Given the description of an element on the screen output the (x, y) to click on. 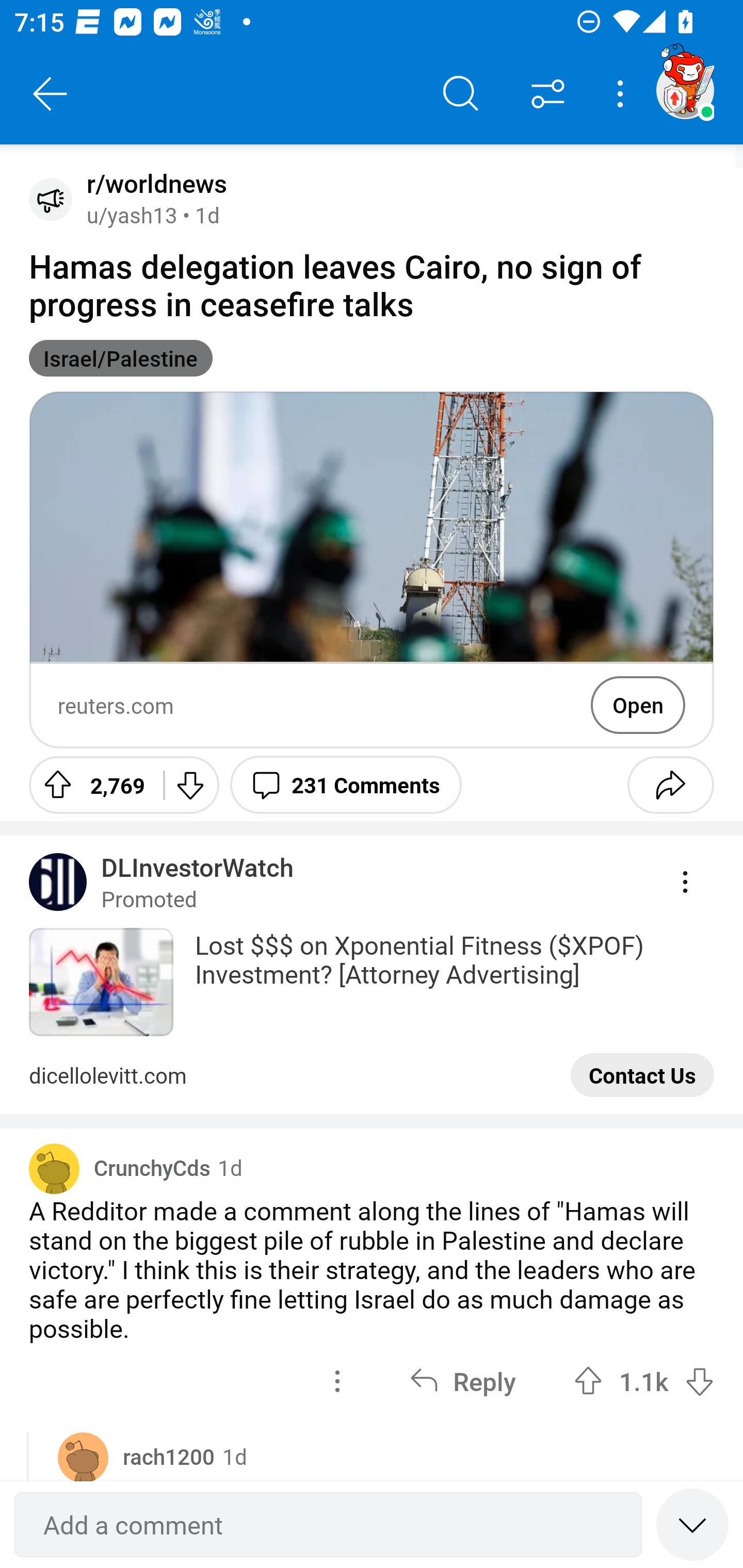
Back (50, 93)
TestAppium002 account (685, 90)
Search comments (460, 93)
Sort comments (547, 93)
More options (623, 93)
r/worldnews (153, 183)
Avatar (50, 199)
Israel/Palestine (120, 358)
Preview Image reuters.com Open (371, 568)
Open (637, 704)
Upvote 2,769 (88, 784)
Downvote (189, 784)
231 Comments (346, 784)
Share (670, 784)
Avatar (53, 1168)
options (337, 1381)
Reply (462, 1381)
Upvote 1.1k 1133 votes Downvote (643, 1381)
Avatar (82, 1456)
Speed read (692, 1524)
Add a comment (327, 1524)
